Given the description of an element on the screen output the (x, y) to click on. 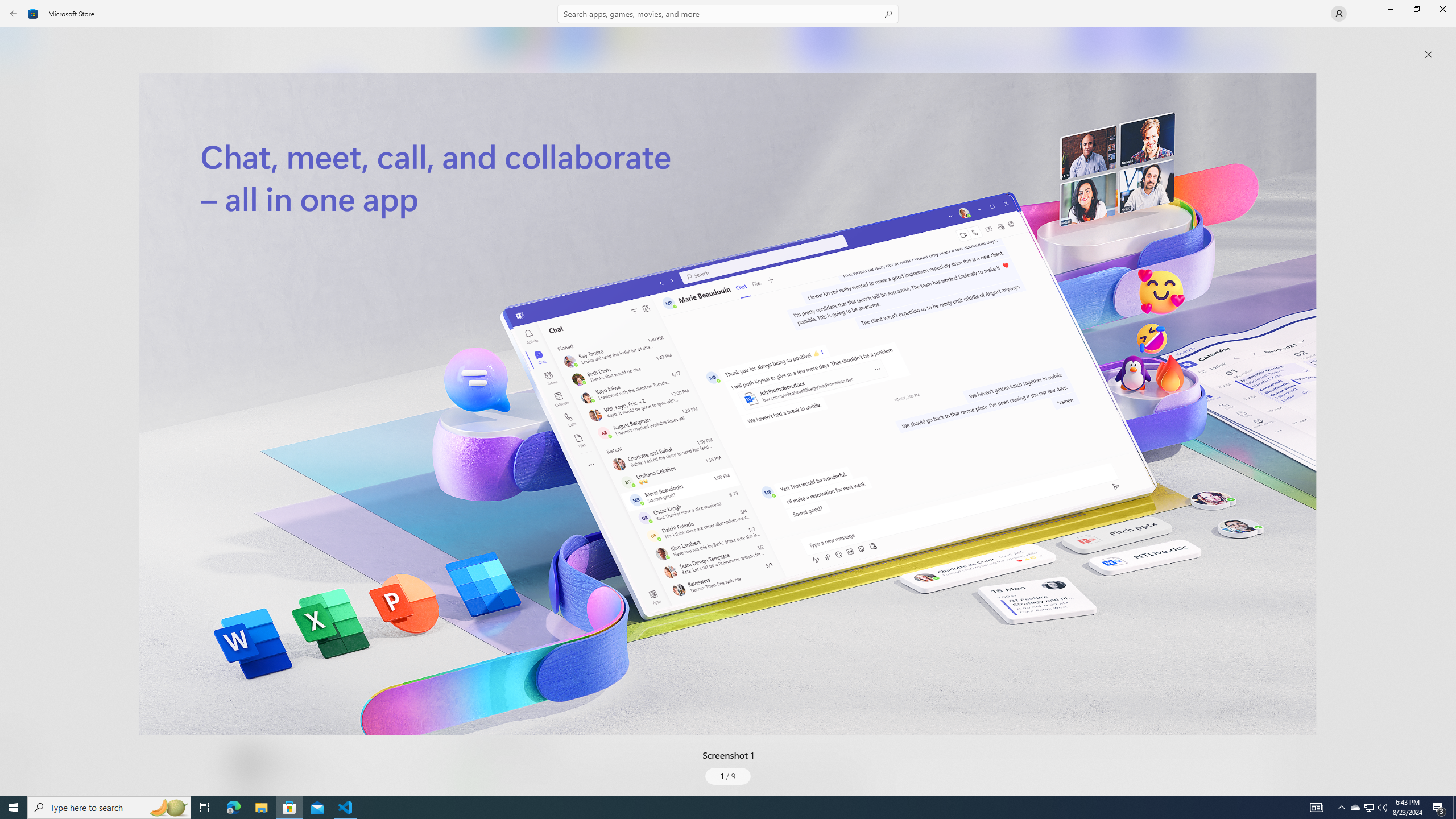
Screenshot 2 (959, 46)
Sign in to review (501, 379)
Show less (482, 703)
Close Microsoft Store (1442, 9)
User profile (1338, 13)
Gaming (20, 115)
Share (424, 769)
Screenshot 3 (1201, 46)
AI Hub (20, 221)
What's New (20, 738)
Class: Image (727, 403)
Productivity (329, 426)
Show all ratings and reviews (1253, 281)
Apps (20, 80)
Arcade (20, 150)
